Given the description of an element on the screen output the (x, y) to click on. 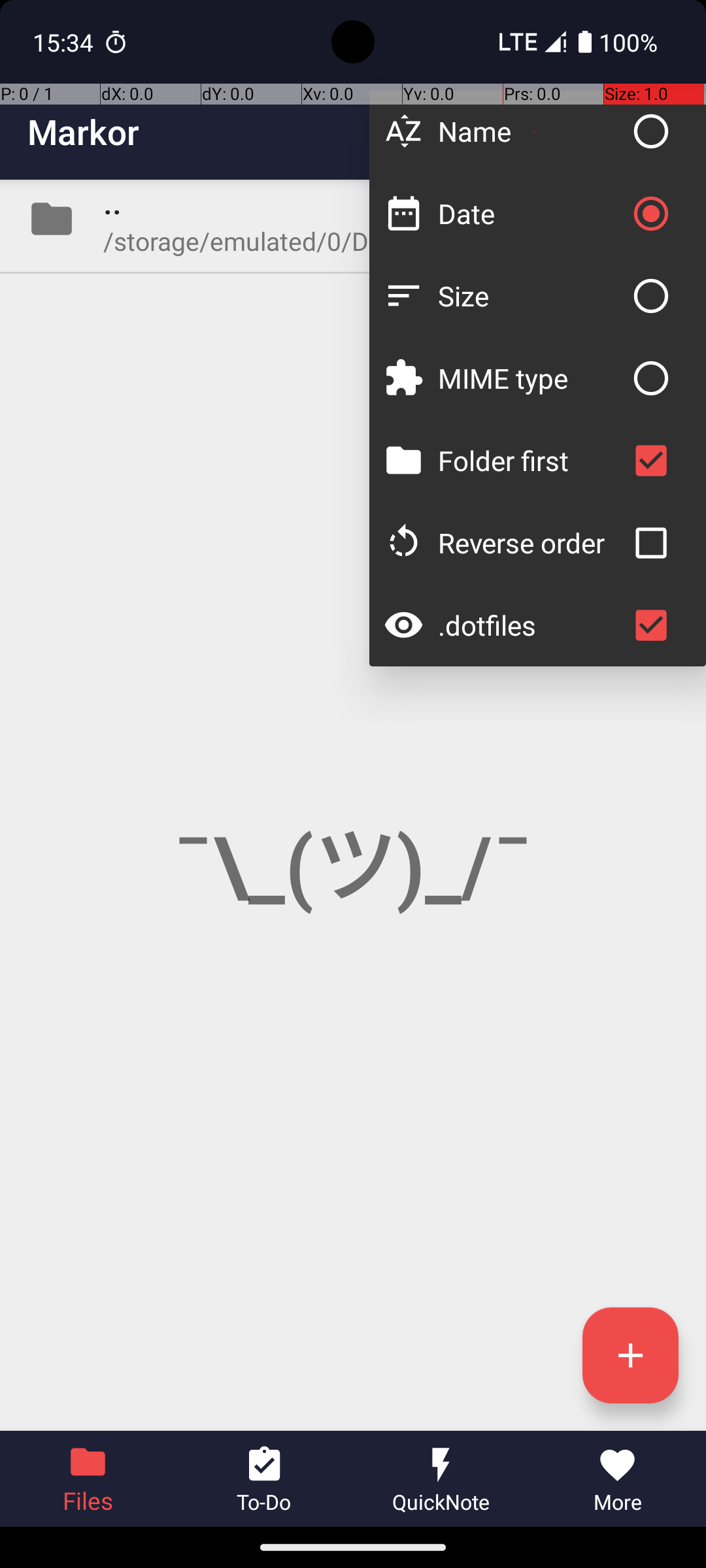
Size Element type: android.widget.TextView (530, 295)
MIME type Element type: android.widget.TextView (530, 377)
Folder first Element type: android.widget.TextView (530, 459)
Reverse order Element type: android.widget.TextView (530, 542)
.dotfiles Element type: android.widget.TextView (530, 624)
